Given the description of an element on the screen output the (x, y) to click on. 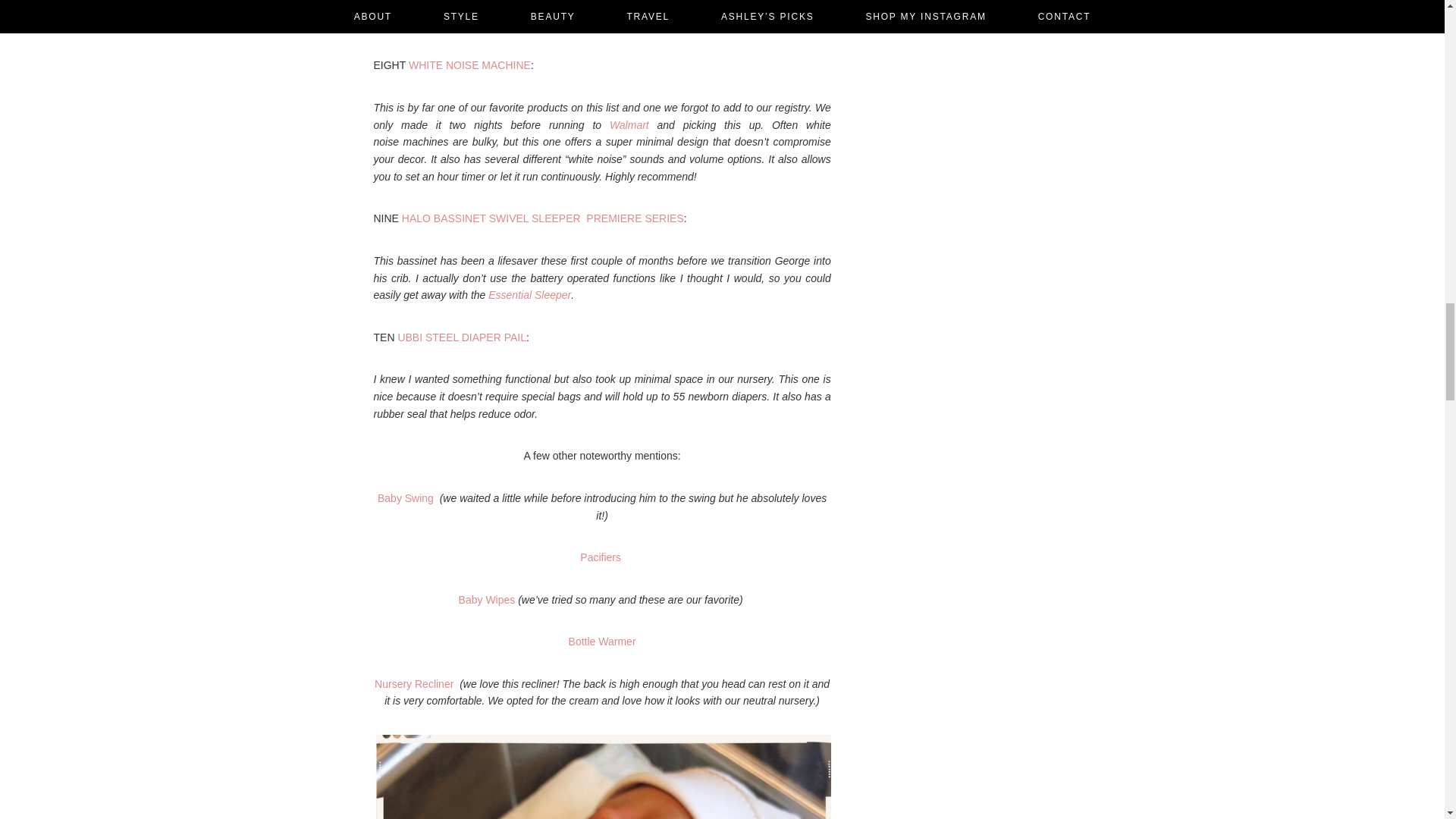
Pacifiers (600, 557)
UBBI STEEL DIAPER PAIL (461, 337)
Walmart (629, 124)
WHITE NOISE MACHINE (470, 64)
Baby Swing  (406, 498)
HALO BASSINET SWIVEL SLEEPER  PREMIERE SERIES (542, 218)
Essential Sleeper (528, 295)
